Given the description of an element on the screen output the (x, y) to click on. 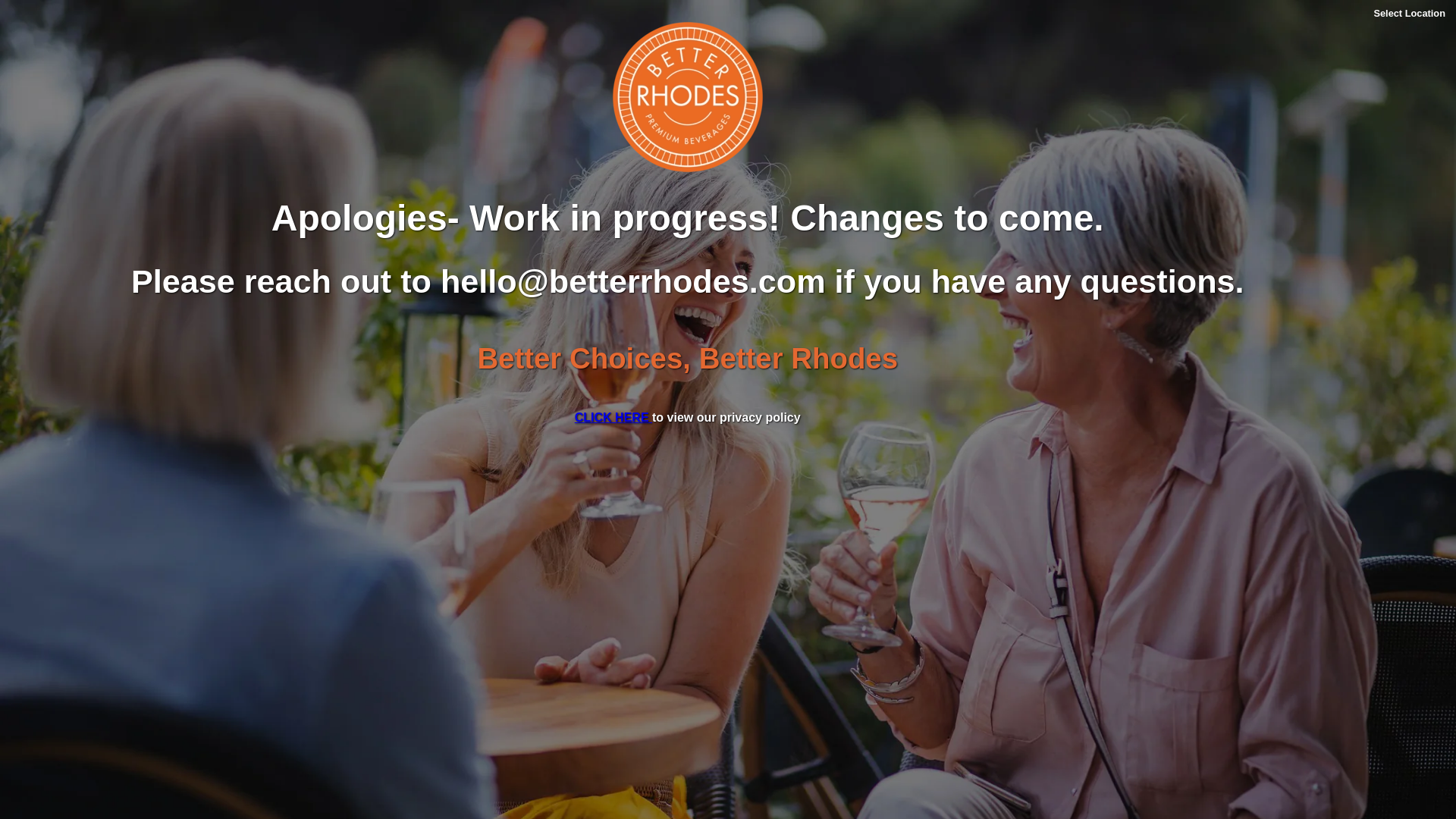
CLICK HERE Element type: text (613, 417)
Select Location Element type: text (1408, 12)
